Given the description of an element on the screen output the (x, y) to click on. 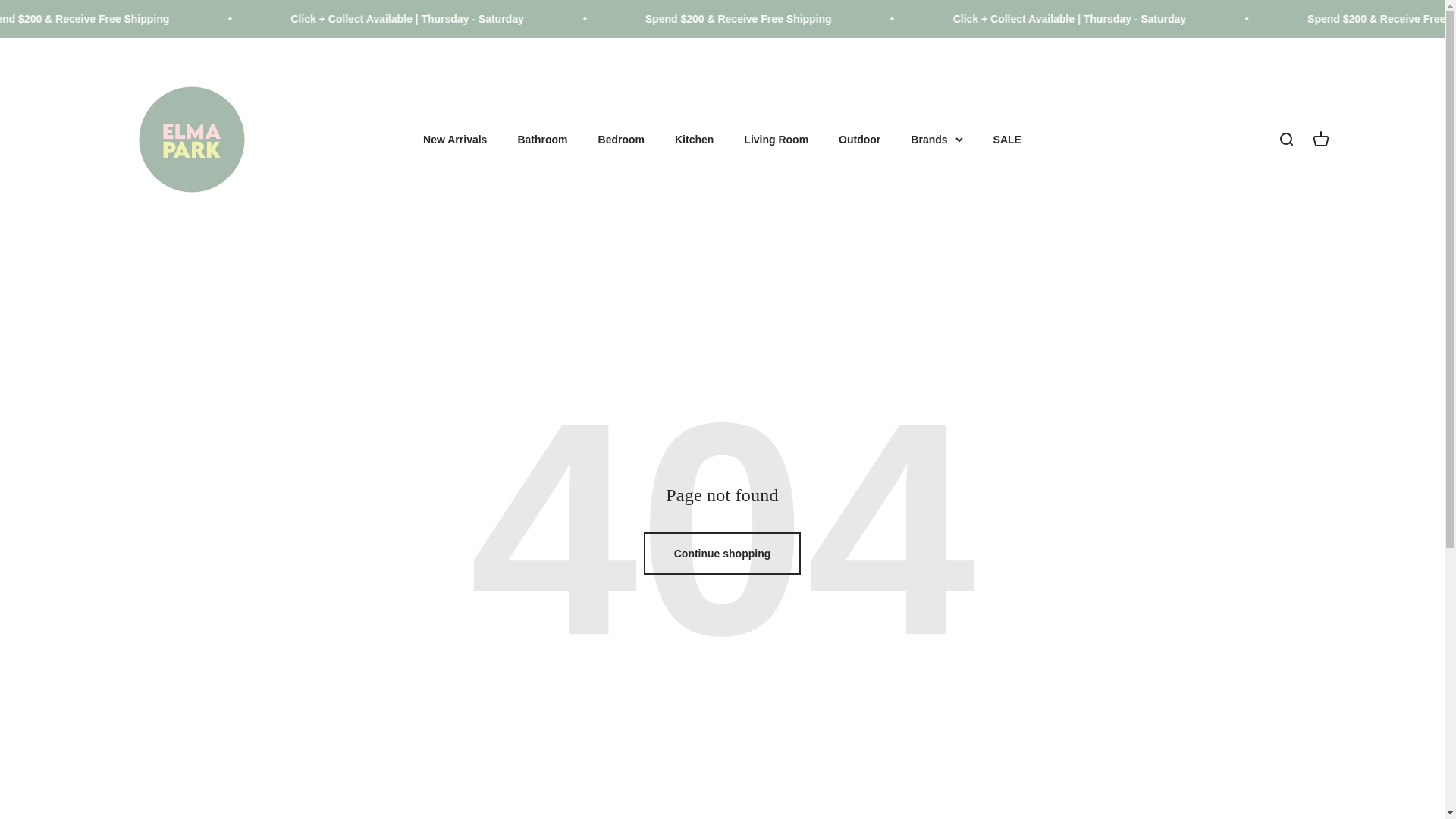
Living Room (776, 139)
New Arrivals (454, 139)
Bedroom (621, 139)
Bathroom (541, 139)
Kitchen (694, 139)
Outdoor (859, 139)
